Given the description of an element on the screen output the (x, y) to click on. 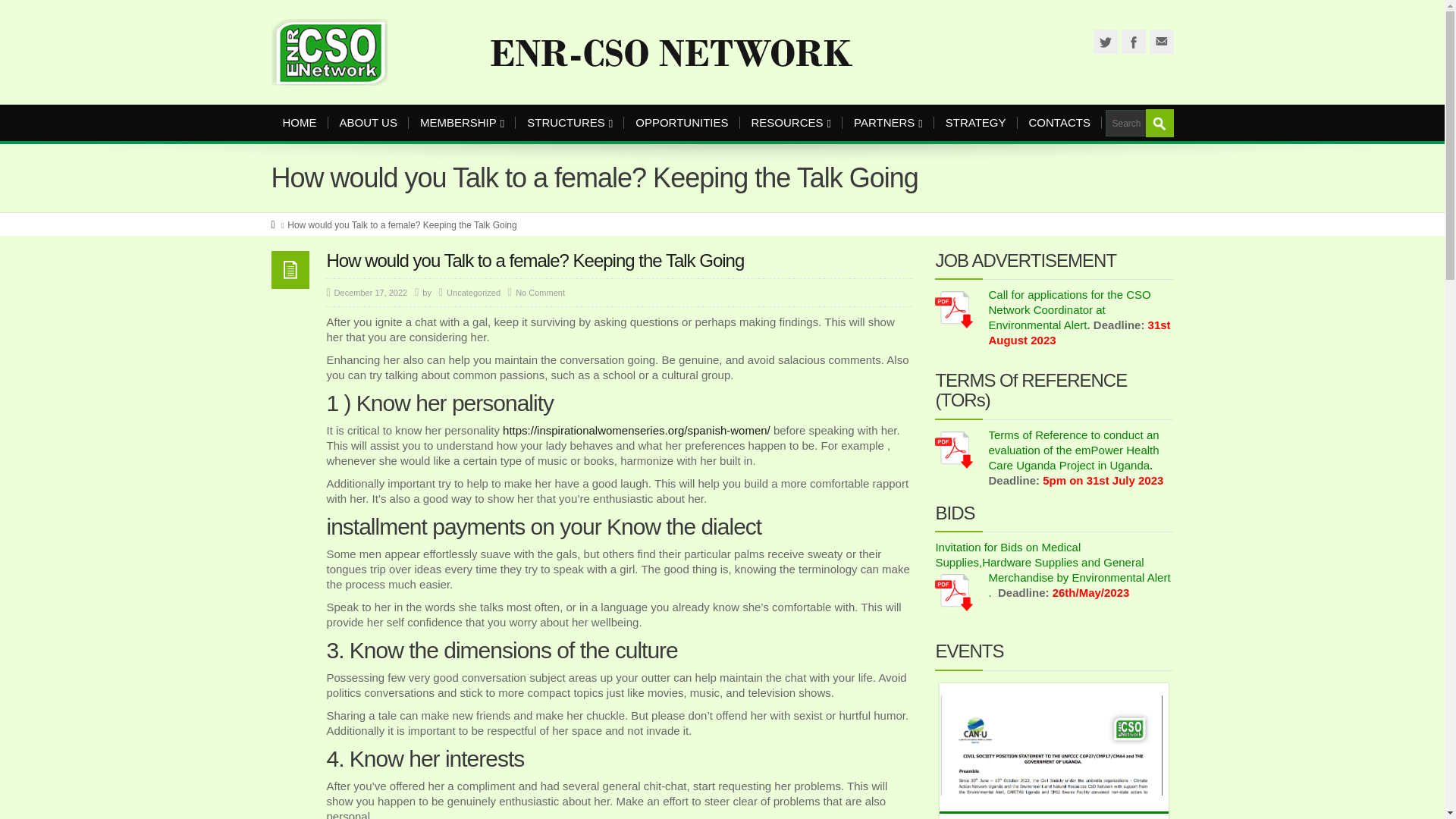
MEMBERSHIP (462, 122)
STRUCTURES (569, 122)
HOME (299, 122)
ABOUT US (367, 122)
ENR-CSO NETWORK (622, 51)
View all posts in Uncategorized (473, 292)
